Given the description of an element on the screen output the (x, y) to click on. 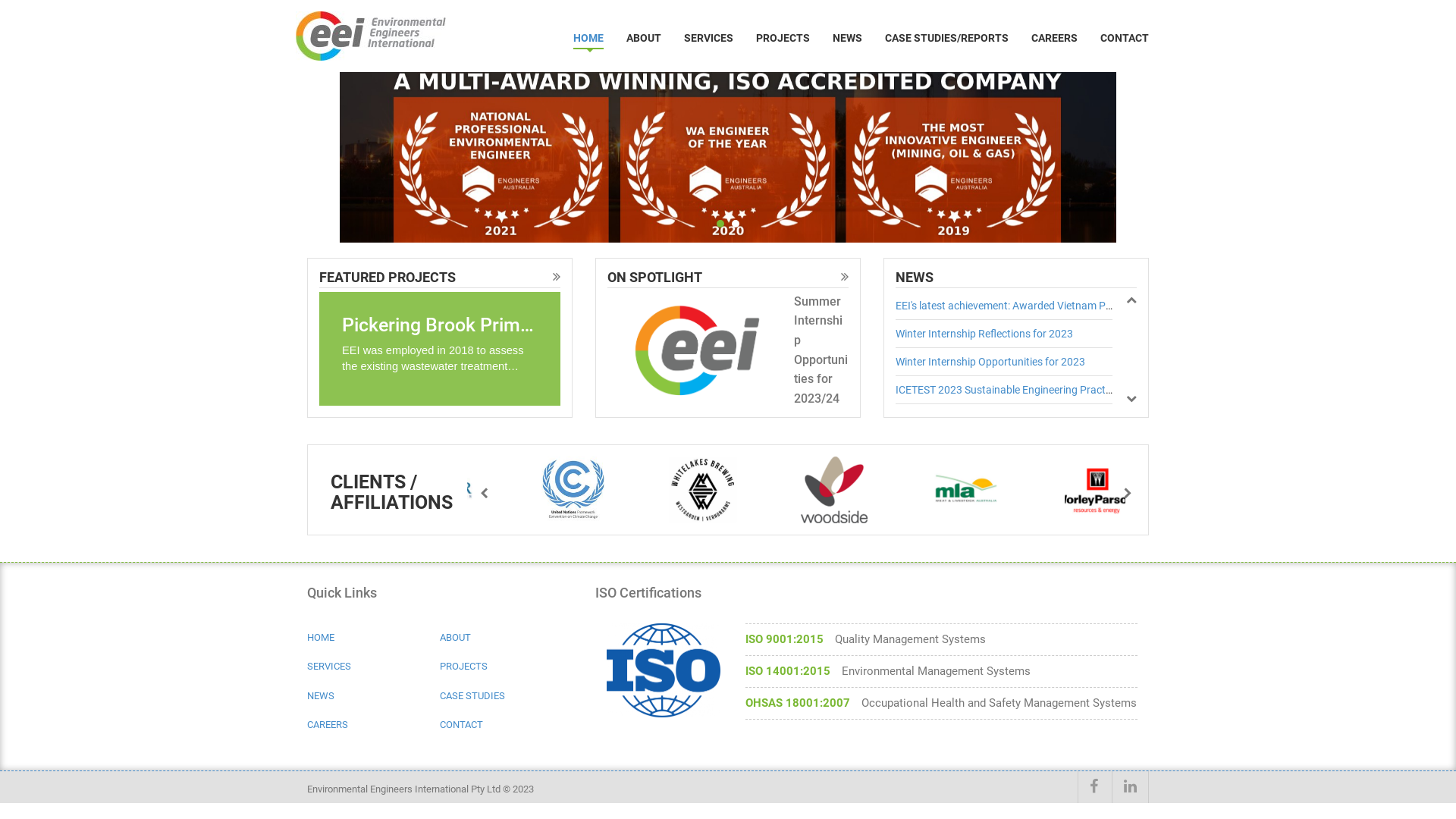
Winter Internship Opportunities for 2023 Element type: text (990, 361)
SERVICES Element type: text (373, 666)
CAREERS Element type: text (1053, 37)
NEWS Element type: text (373, 696)
CASE STUDIES/REPORTS Element type: text (946, 37)
NEWS Element type: text (847, 37)
CONTACT Element type: text (505, 725)
ABOUT Element type: text (643, 37)
Summer Internship Opportunities for 2023/24 Element type: text (820, 348)
ABOUT Element type: text (505, 637)
PROJECTS Element type: text (505, 666)
CAREERS Element type: text (373, 725)
CONTACT Element type: text (1124, 37)
Winter Internship Reflections for 2023 Element type: text (984, 333)
CASE STUDIES Element type: text (505, 696)
PROJECTS Element type: text (782, 37)
EEI's latest achievement: Awarded Vietnam Patent Element type: text (1012, 305)
HOME Element type: text (373, 637)
HOME Element type: text (588, 37)
SERVICES Element type: text (708, 37)
